Given the description of an element on the screen output the (x, y) to click on. 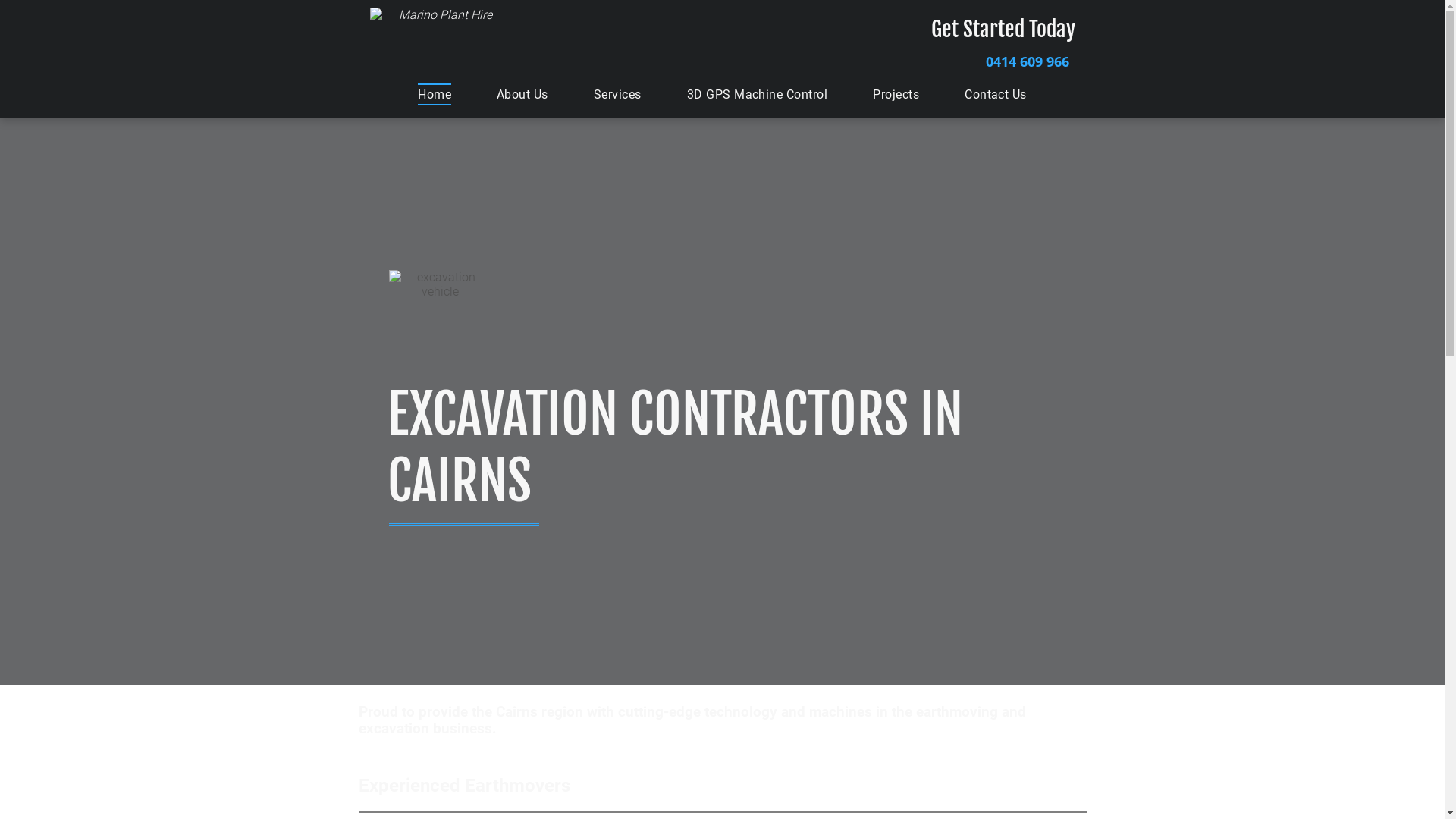
0414 609 966 Element type: text (991, 56)
About Us Element type: text (522, 94)
Home Element type: text (434, 94)
Contact Us Element type: text (995, 94)
3D GPS Machine Control Element type: text (757, 94)
Projects Element type: text (895, 94)
Services Element type: text (617, 94)
